Given the description of an element on the screen output the (x, y) to click on. 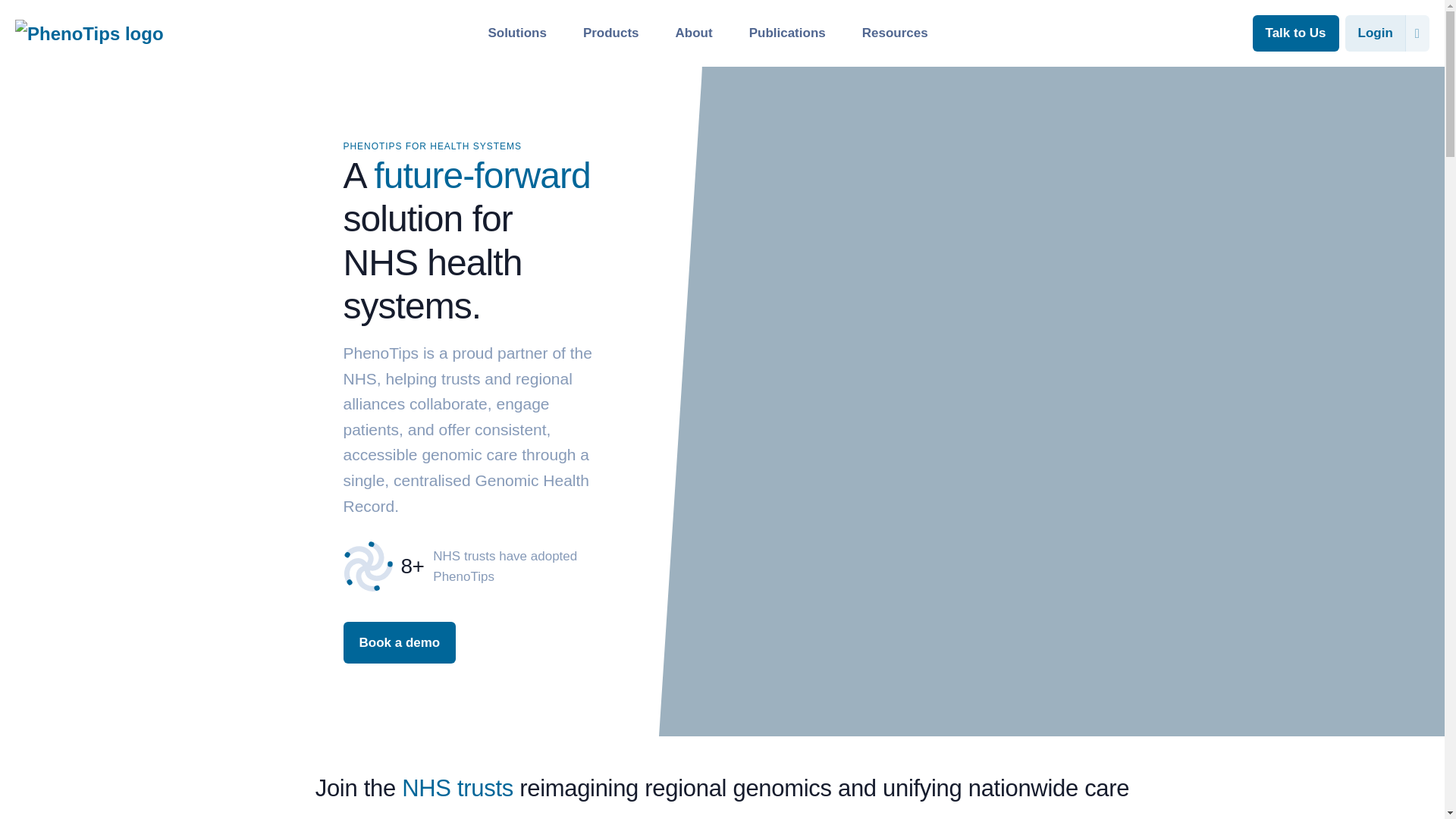
Login (1375, 33)
Products (611, 32)
About (694, 32)
Book a demo (398, 642)
Publications (787, 32)
Solutions (516, 32)
Talk to Us (1295, 32)
Resources (895, 32)
